Given the description of an element on the screen output the (x, y) to click on. 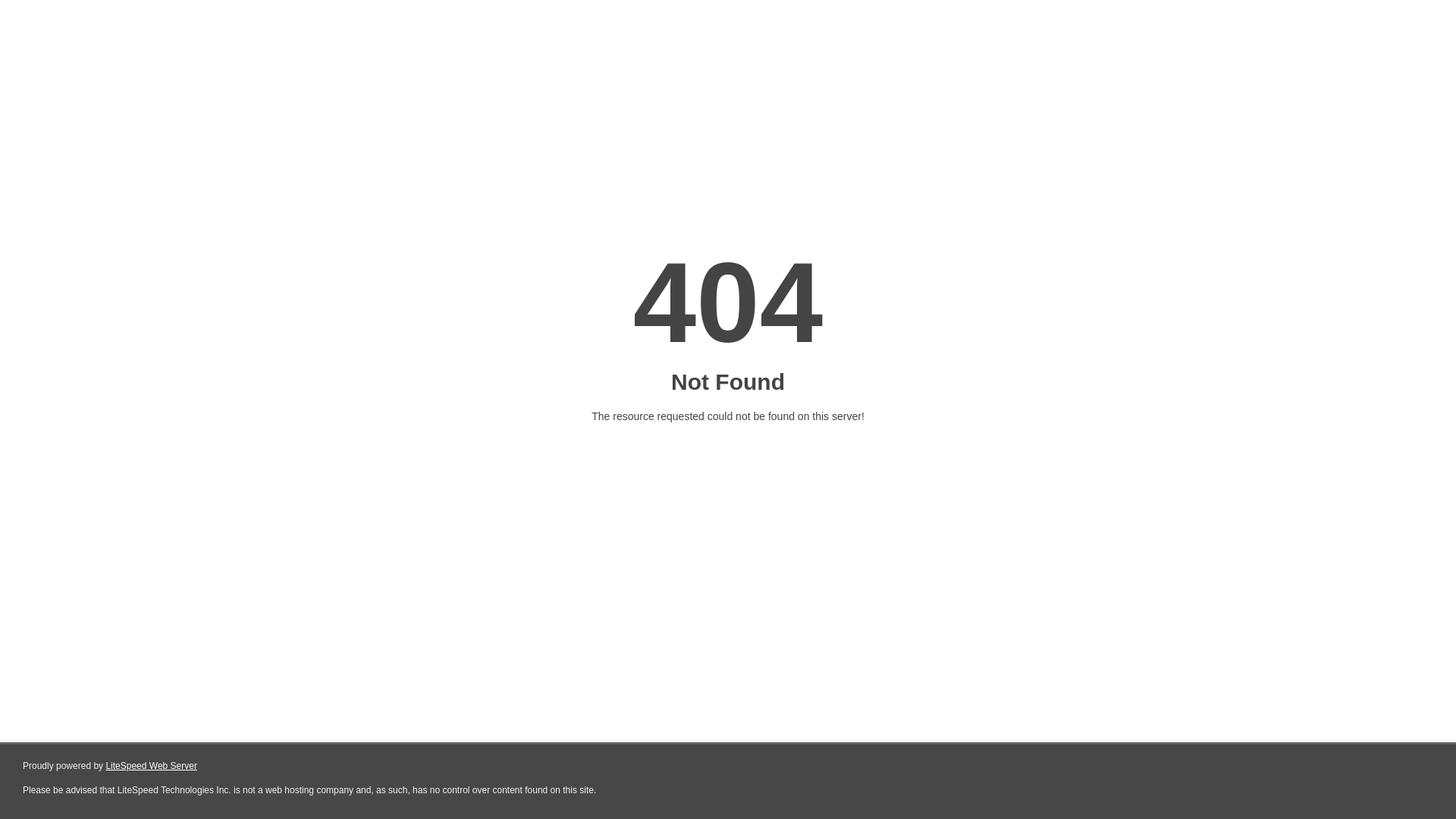
LiteSpeed Web Server Element type: text (151, 765)
